Given the description of an element on the screen output the (x, y) to click on. 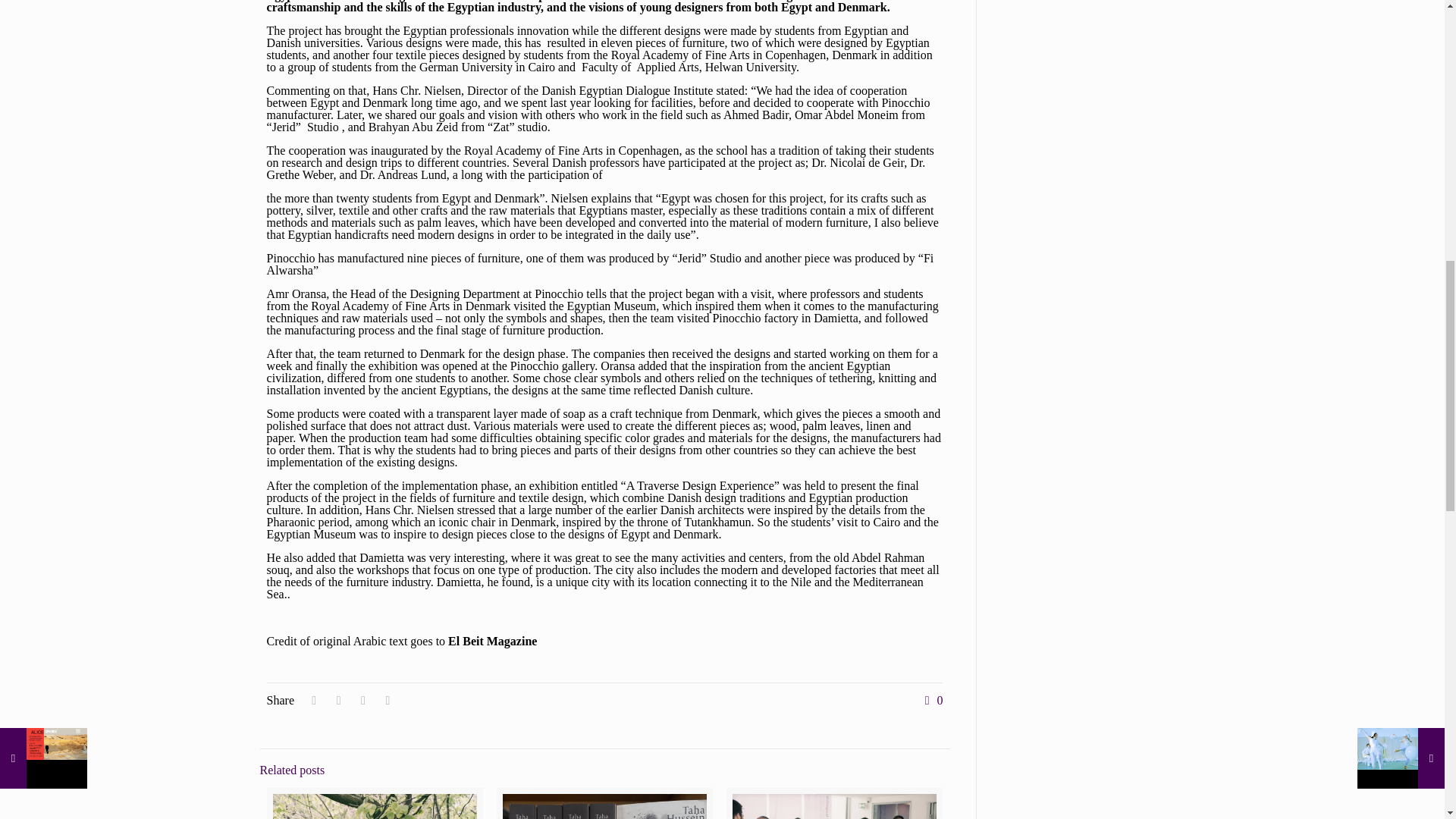
0 (930, 700)
